Given the description of an element on the screen output the (x, y) to click on. 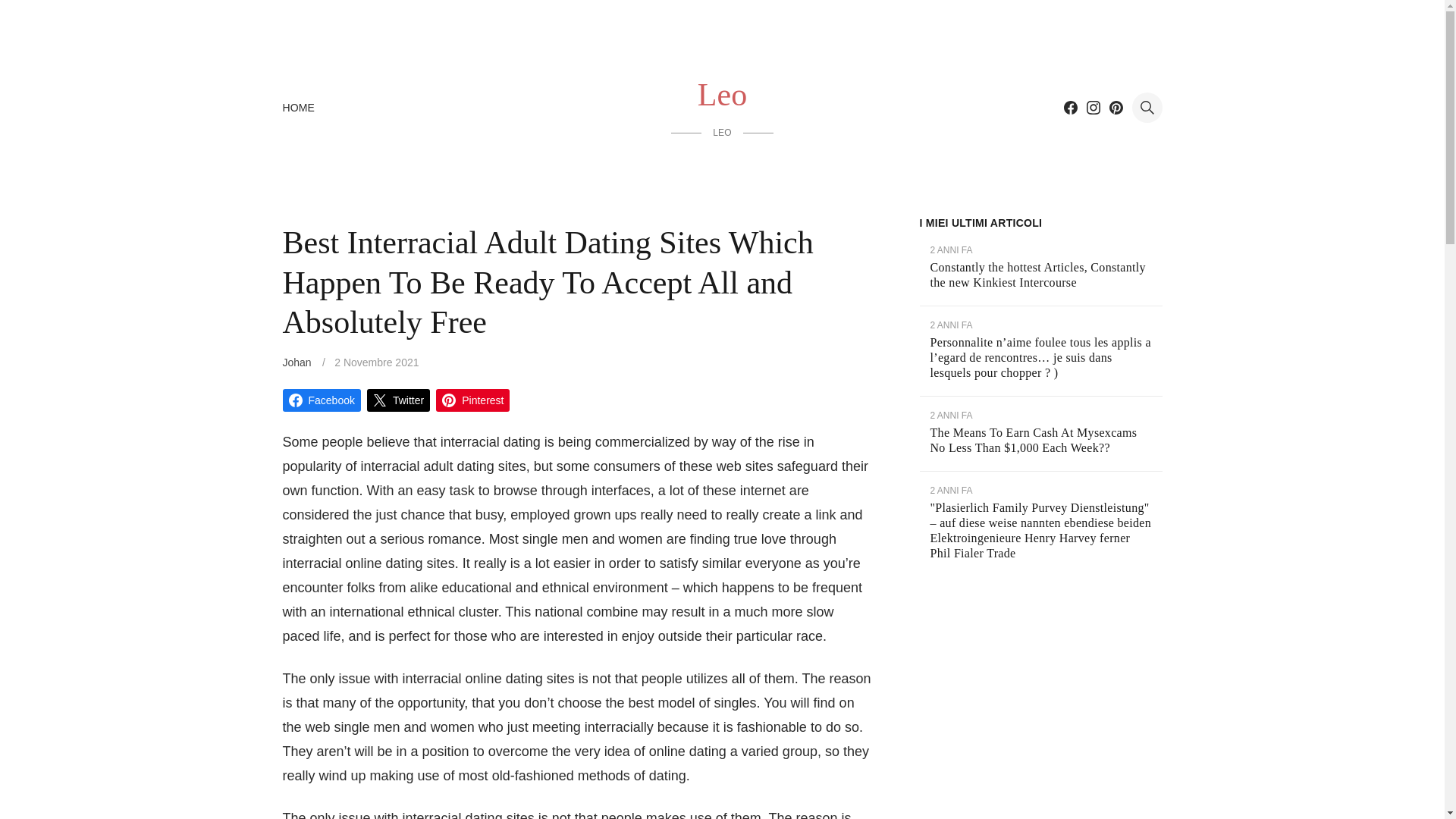
Pinterest (472, 400)
Twitter (397, 400)
Leo (721, 94)
Johan (296, 362)
Facebook (320, 400)
HOME (298, 108)
2 Novembre 2021 (376, 362)
Instagram (1092, 107)
Facebook (1069, 107)
Pinterest (1115, 107)
